Given the description of an element on the screen output the (x, y) to click on. 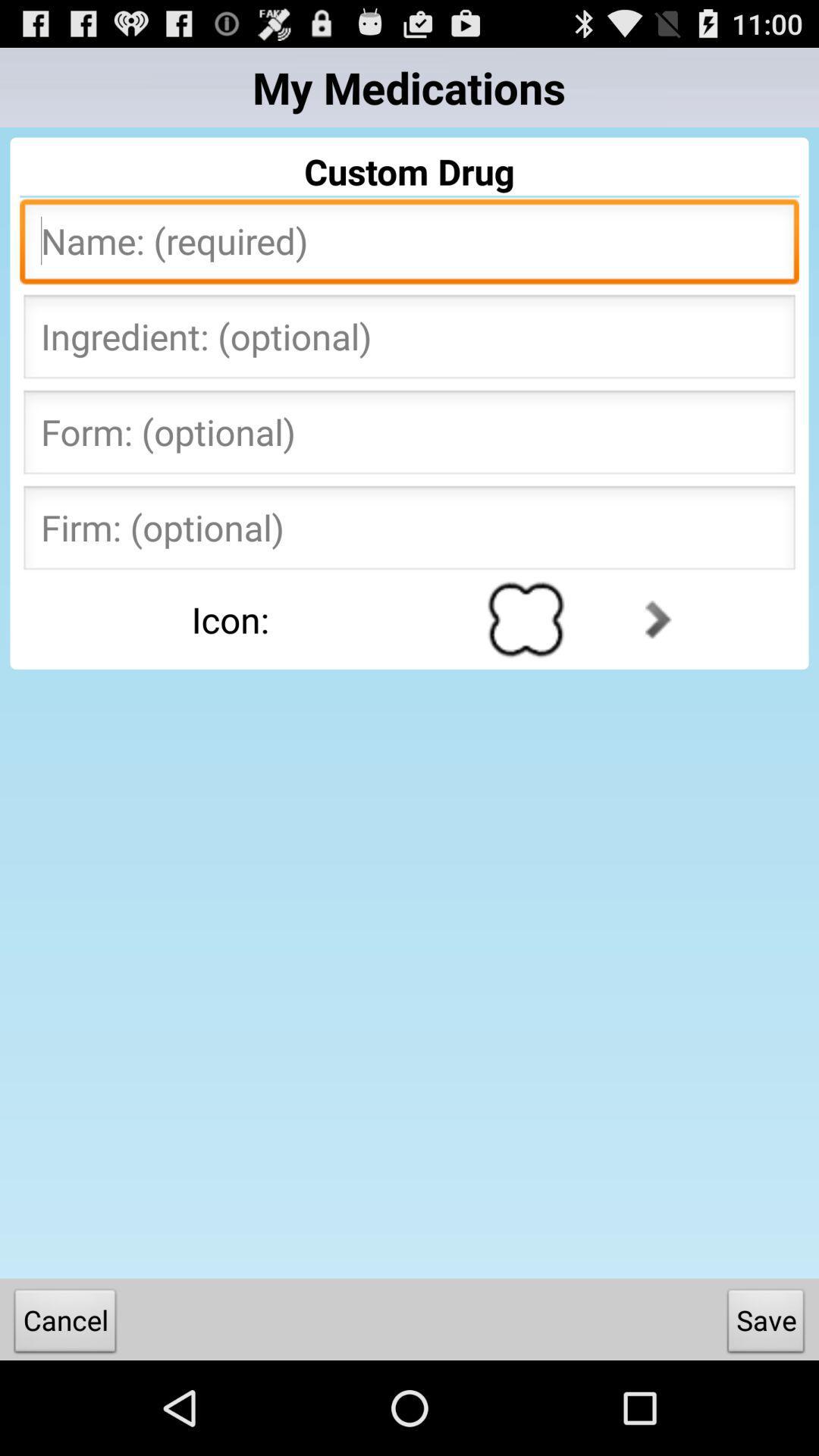
enter name (409, 245)
